Given the description of an element on the screen output the (x, y) to click on. 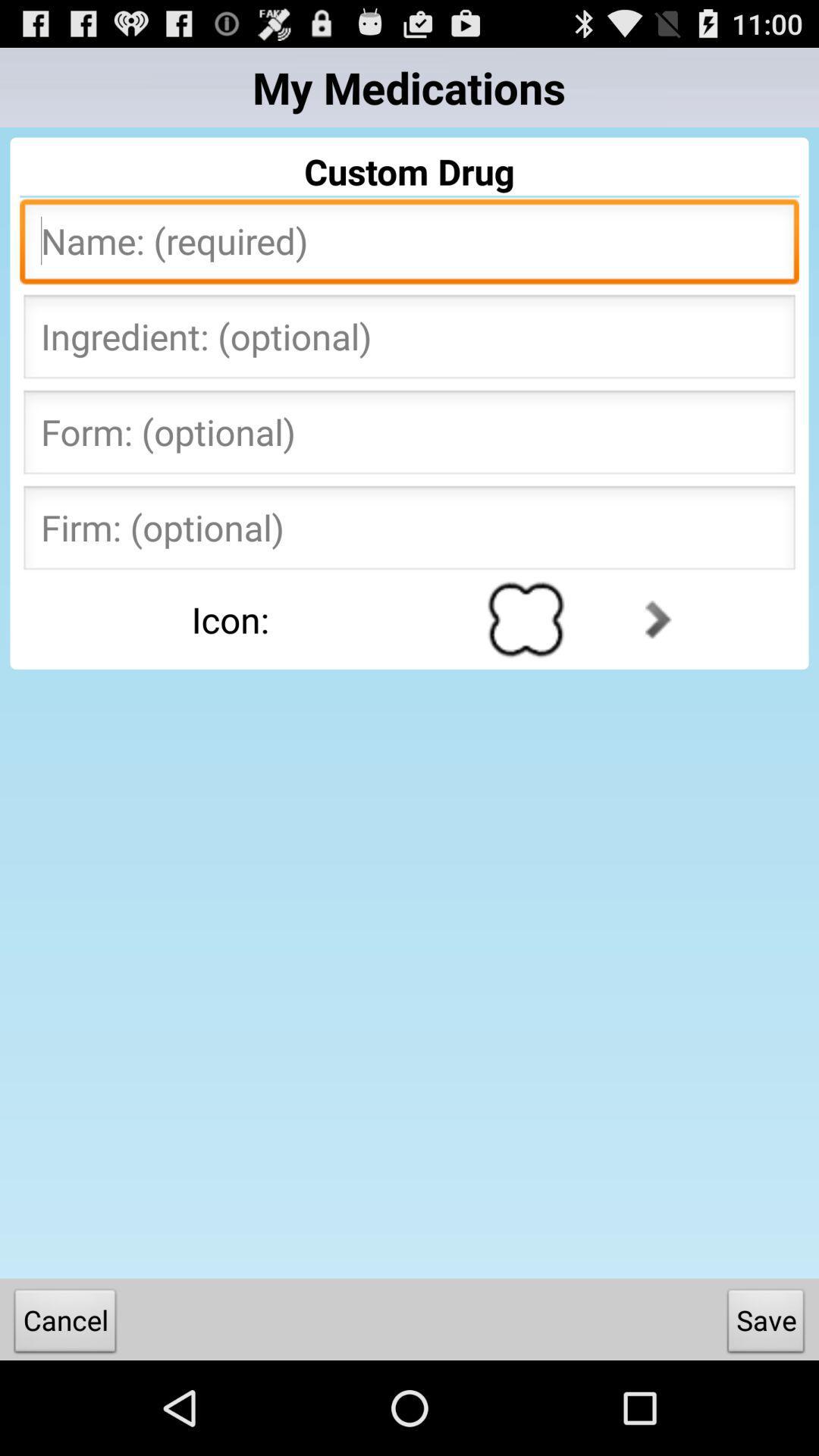
enter name (409, 245)
